Given the description of an element on the screen output the (x, y) to click on. 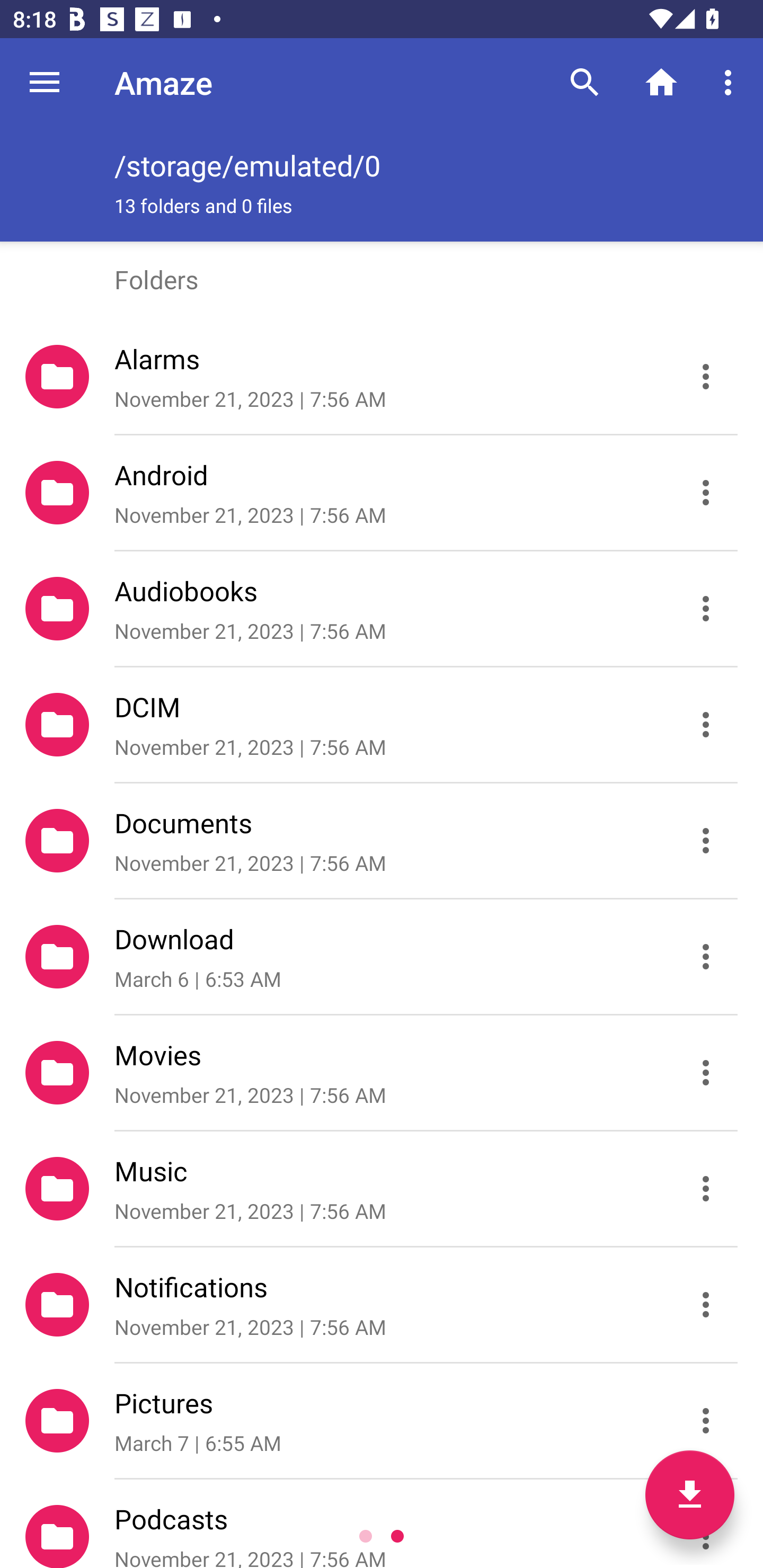
Navigate up (44, 82)
Search (585, 81)
Home (661, 81)
More options (731, 81)
Alarms November 21, 2023 | 7:56 AM (381, 376)
Android November 21, 2023 | 7:56 AM (381, 492)
Audiobooks November 21, 2023 | 7:56 AM (381, 608)
DCIM November 21, 2023 | 7:56 AM (381, 724)
Documents November 21, 2023 | 7:56 AM (381, 841)
Download March 6 | 6:53 AM (381, 957)
Movies November 21, 2023 | 7:56 AM (381, 1073)
Music November 21, 2023 | 7:56 AM (381, 1189)
Notifications November 21, 2023 | 7:56 AM (381, 1305)
Pictures March 7 | 6:55 AM (381, 1421)
Podcasts November 21, 2023 | 7:56 AM (381, 1524)
